Given the description of an element on the screen output the (x, y) to click on. 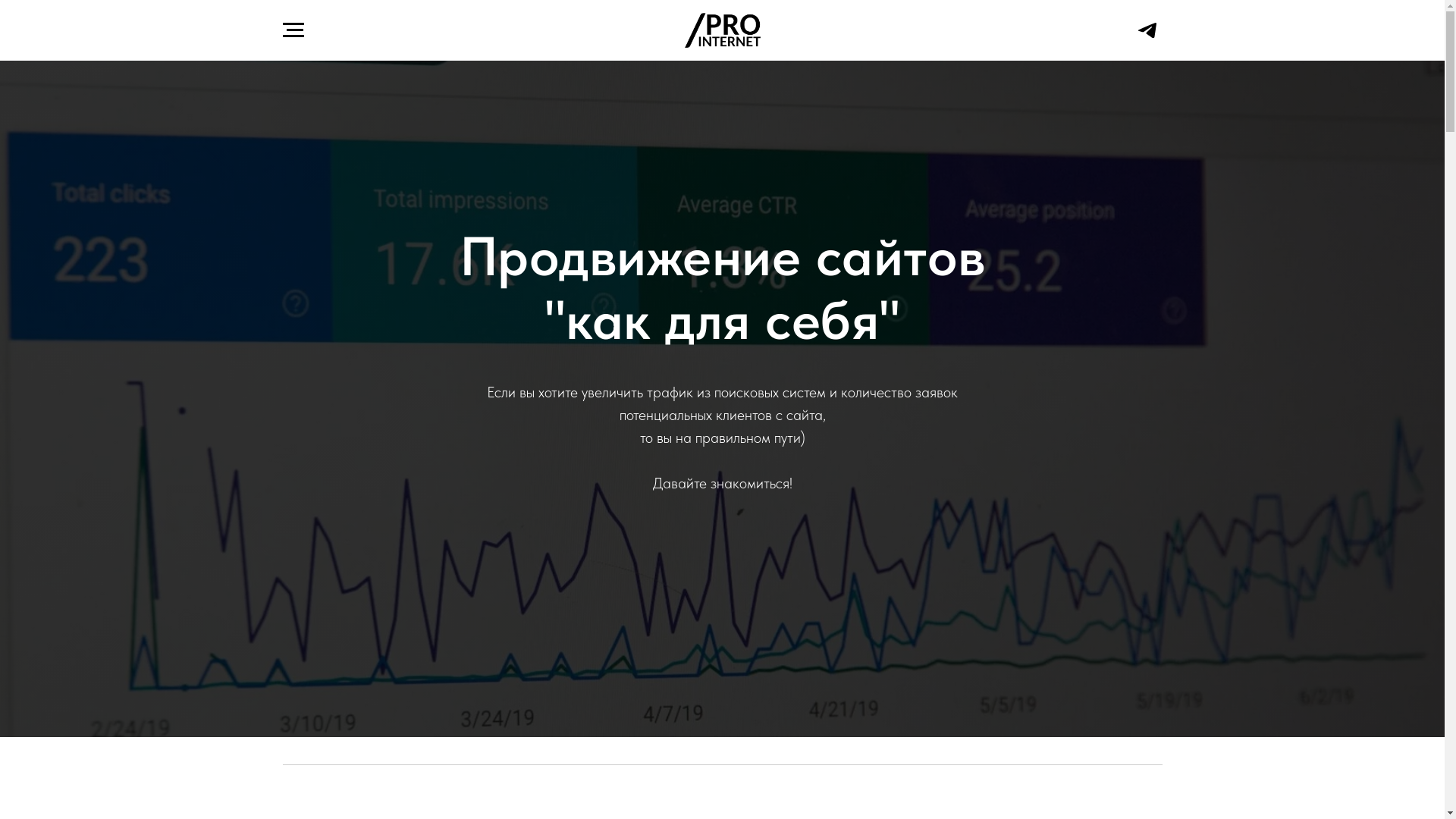
Telegram Element type: hover (1146, 36)
